Given the description of an element on the screen output the (x, y) to click on. 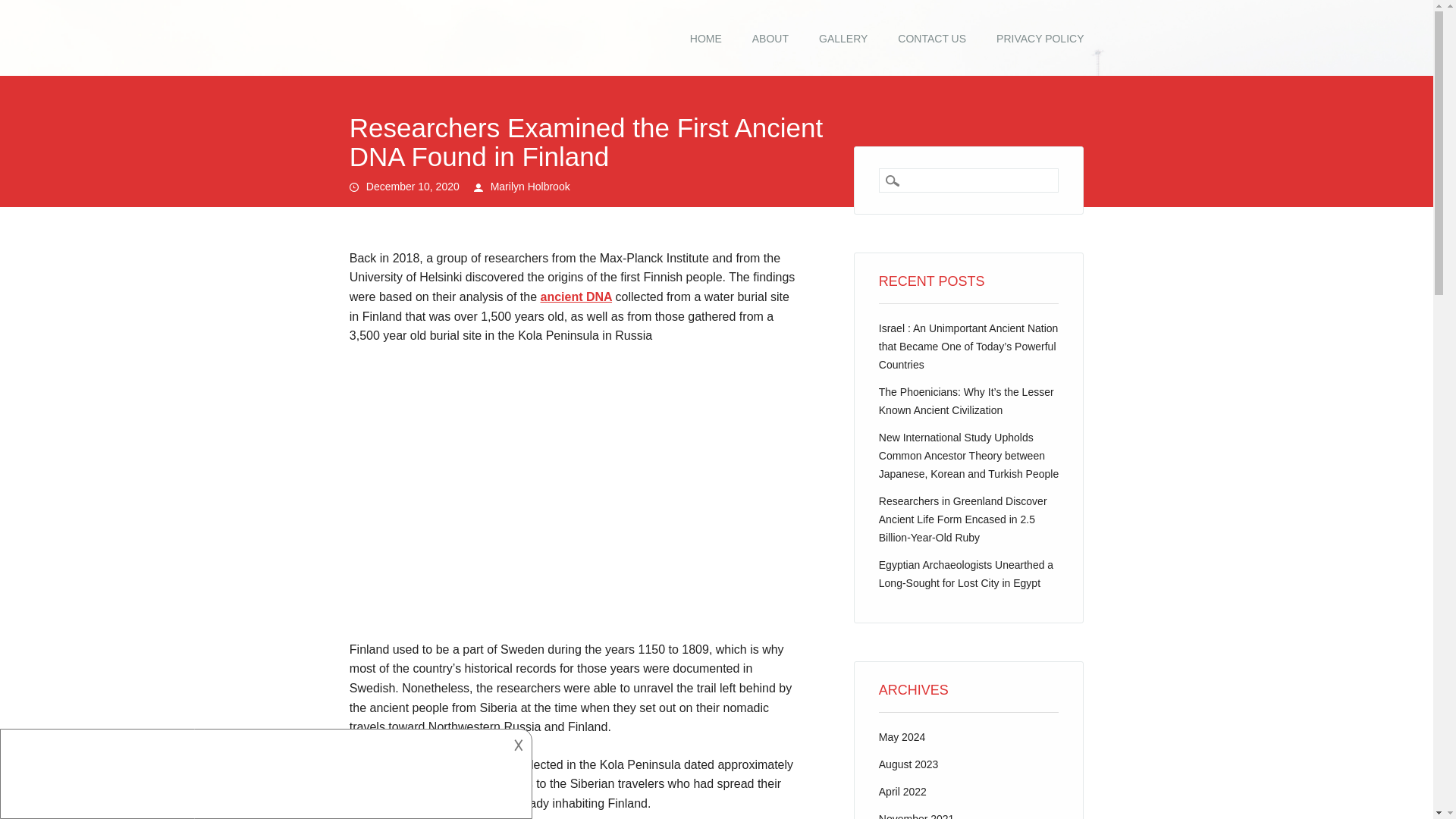
August 2023 (909, 764)
April 2022 (902, 791)
May 2024 (901, 736)
PRIVACY POLICY (1040, 38)
HOME (705, 38)
View all posts by Marilyn Holbrook (530, 186)
ancient DNA (575, 296)
Marilyn Holbrook (530, 186)
description (264, 771)
Ancestral Journeys (406, 31)
November 2021 (917, 816)
GALLERY (842, 38)
